Given the description of an element on the screen output the (x, y) to click on. 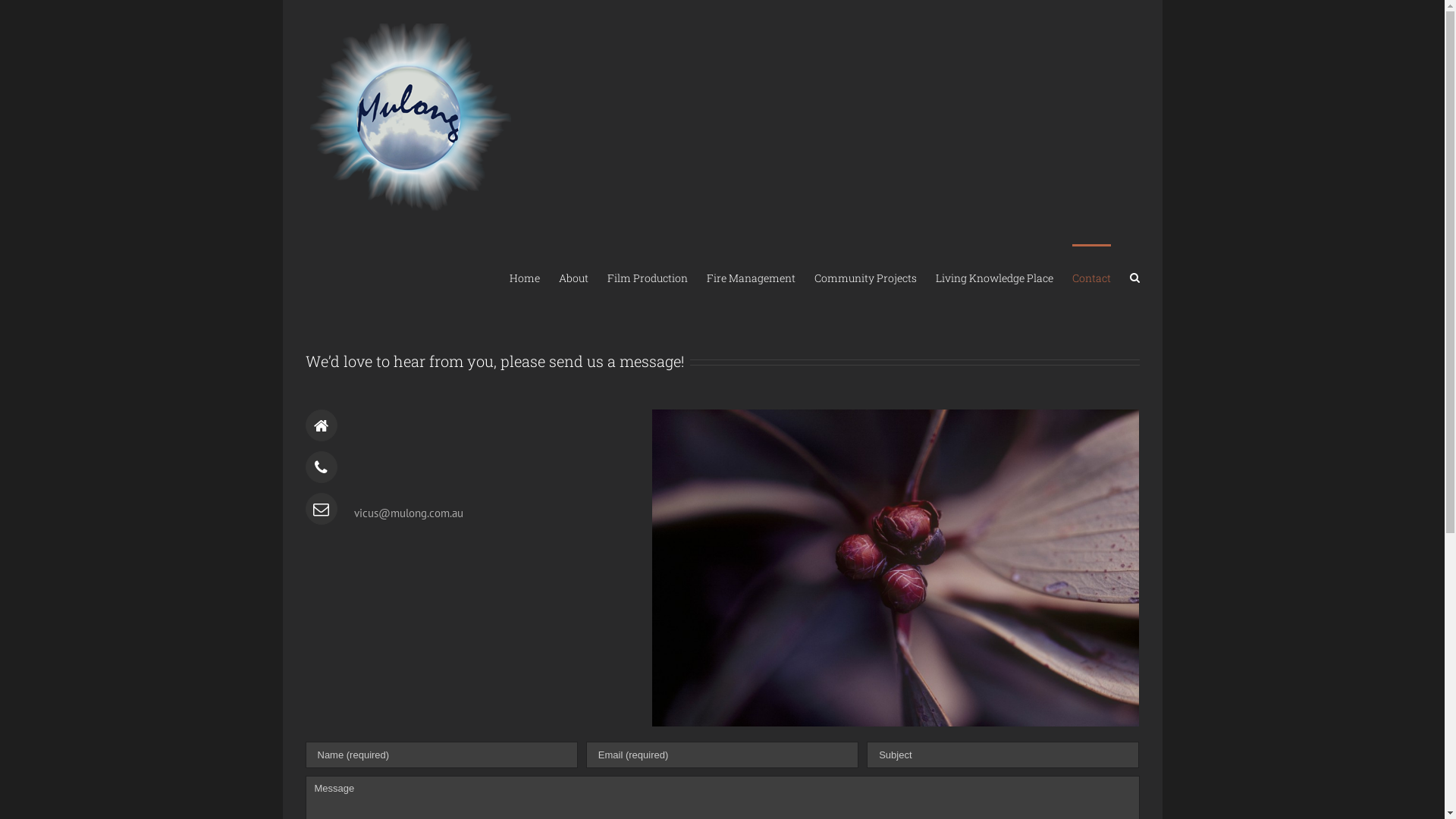
Community Projects Element type: text (865, 276)
Film Production Element type: text (646, 276)
About Element type: text (572, 276)
Fire Management Element type: text (750, 276)
Home Element type: text (524, 276)
Living Knowledge Place Element type: text (994, 276)
Contact Element type: text (1091, 276)
